Given the description of an element on the screen output the (x, y) to click on. 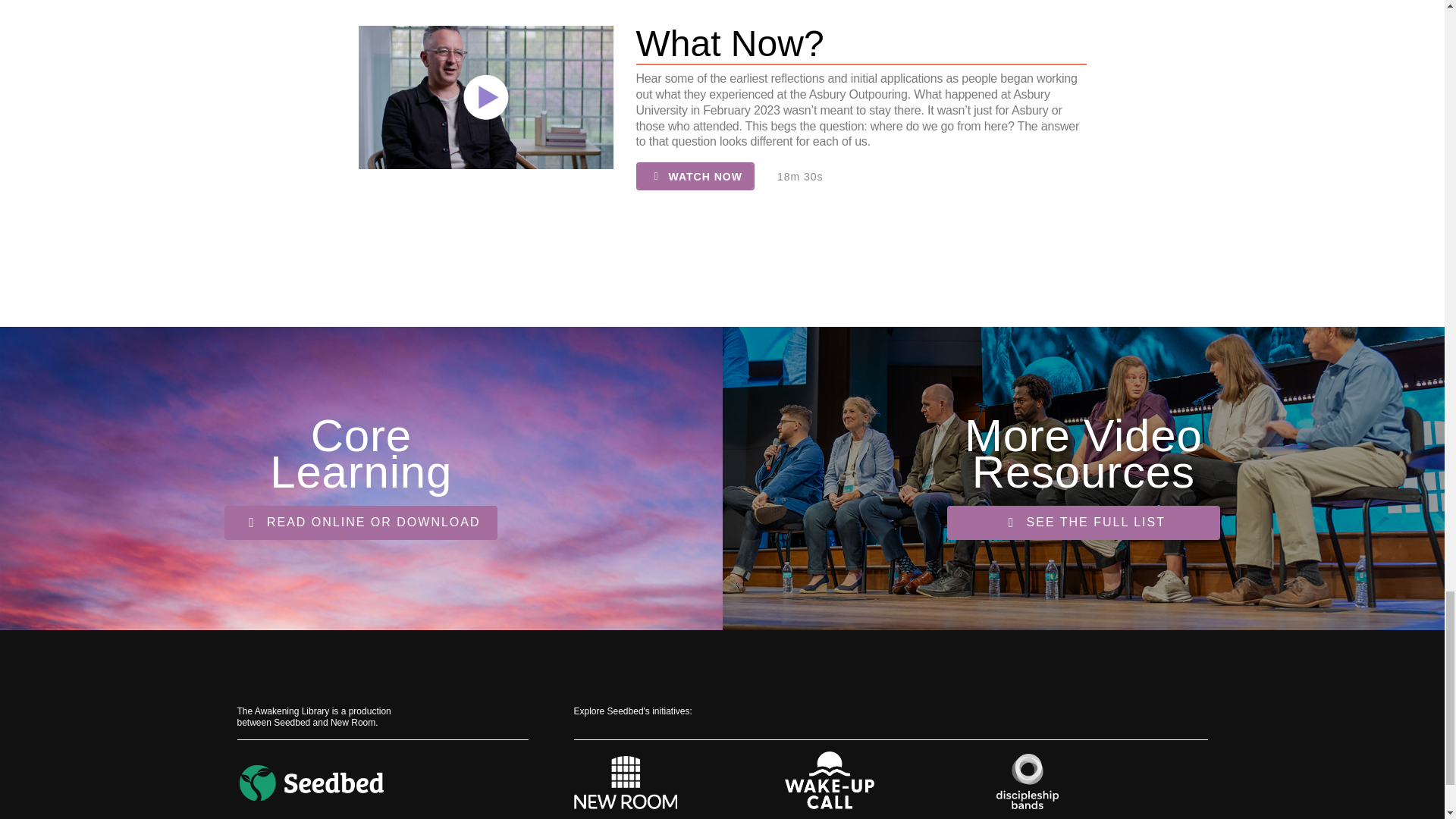
READ ONLINE OR DOWNLOAD (360, 522)
SEE THE FULL LIST (1083, 522)
WATCH NOW (694, 176)
